Given the description of an element on the screen output the (x, y) to click on. 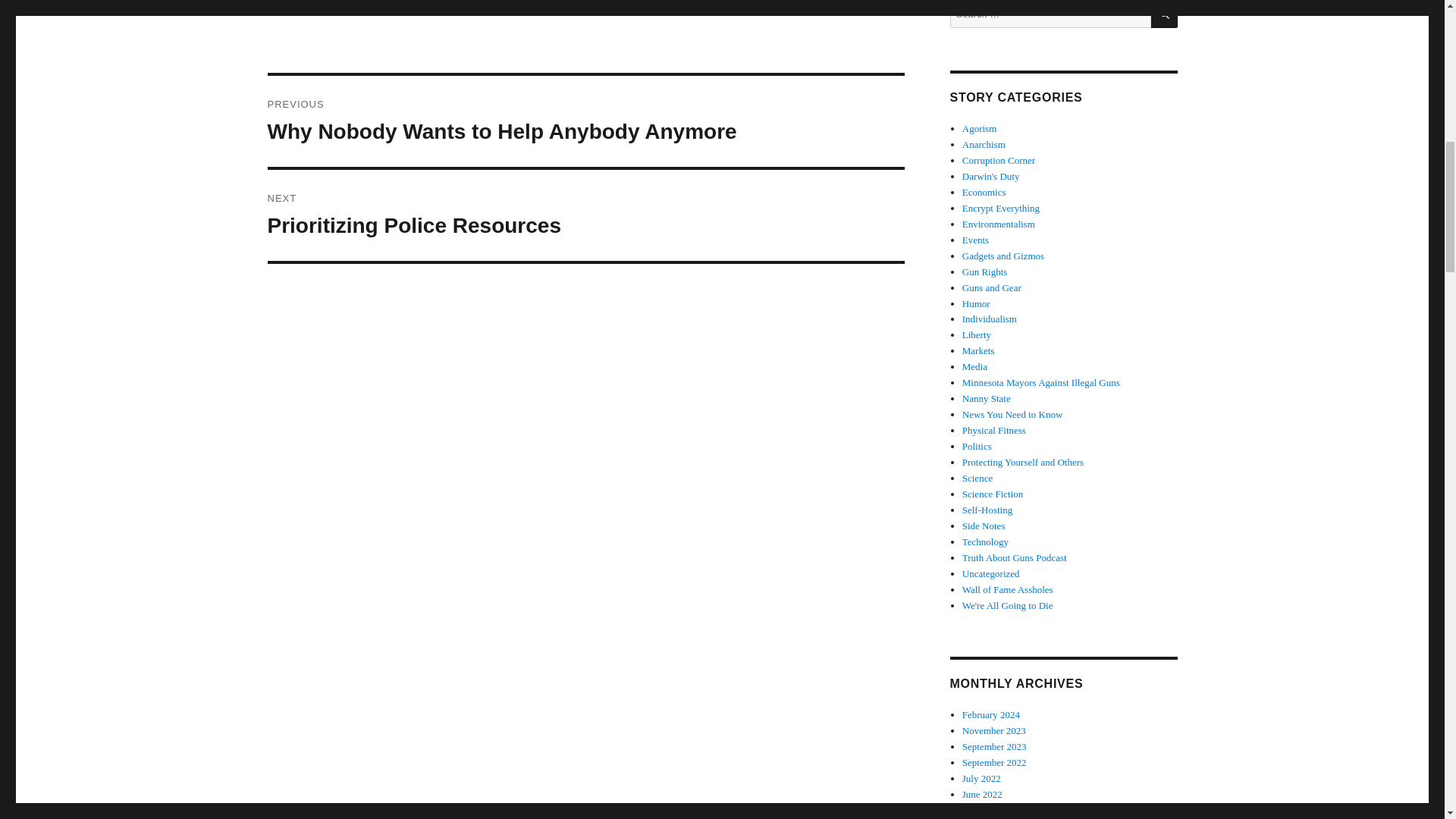
Individualism (989, 318)
Gun Rights (984, 271)
SEARCH (1164, 14)
News You Need to Know (1012, 414)
Events (975, 239)
Darwin's Duty (991, 175)
Politics (976, 446)
Liberty (976, 334)
Humor (976, 302)
Guns and Gear (992, 287)
Nanny State (986, 398)
Protecting Yourself and Others (585, 215)
Minnesota Mayors Against Illegal Guns (1022, 461)
Physical Fitness (1040, 382)
